Given the description of an element on the screen output the (x, y) to click on. 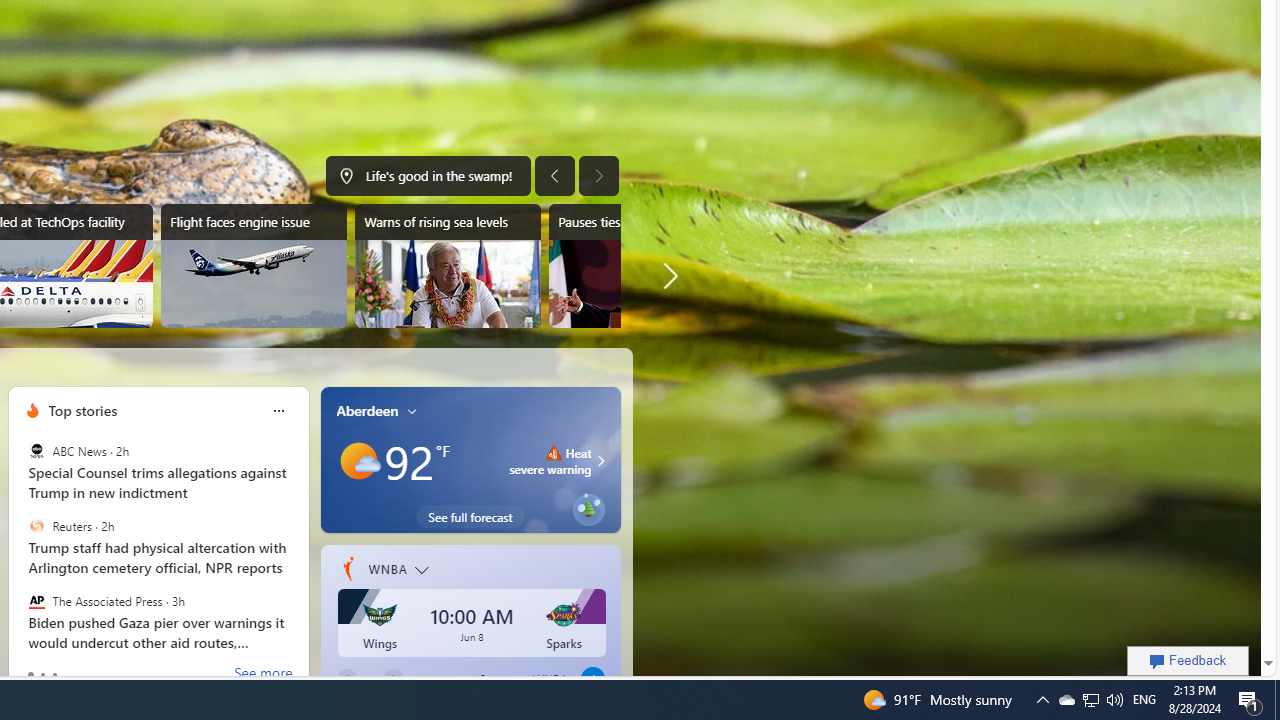
next (298, 538)
Click to see more information (598, 460)
More news (665, 275)
ABC News (36, 451)
